Given the description of an element on the screen output the (x, y) to click on. 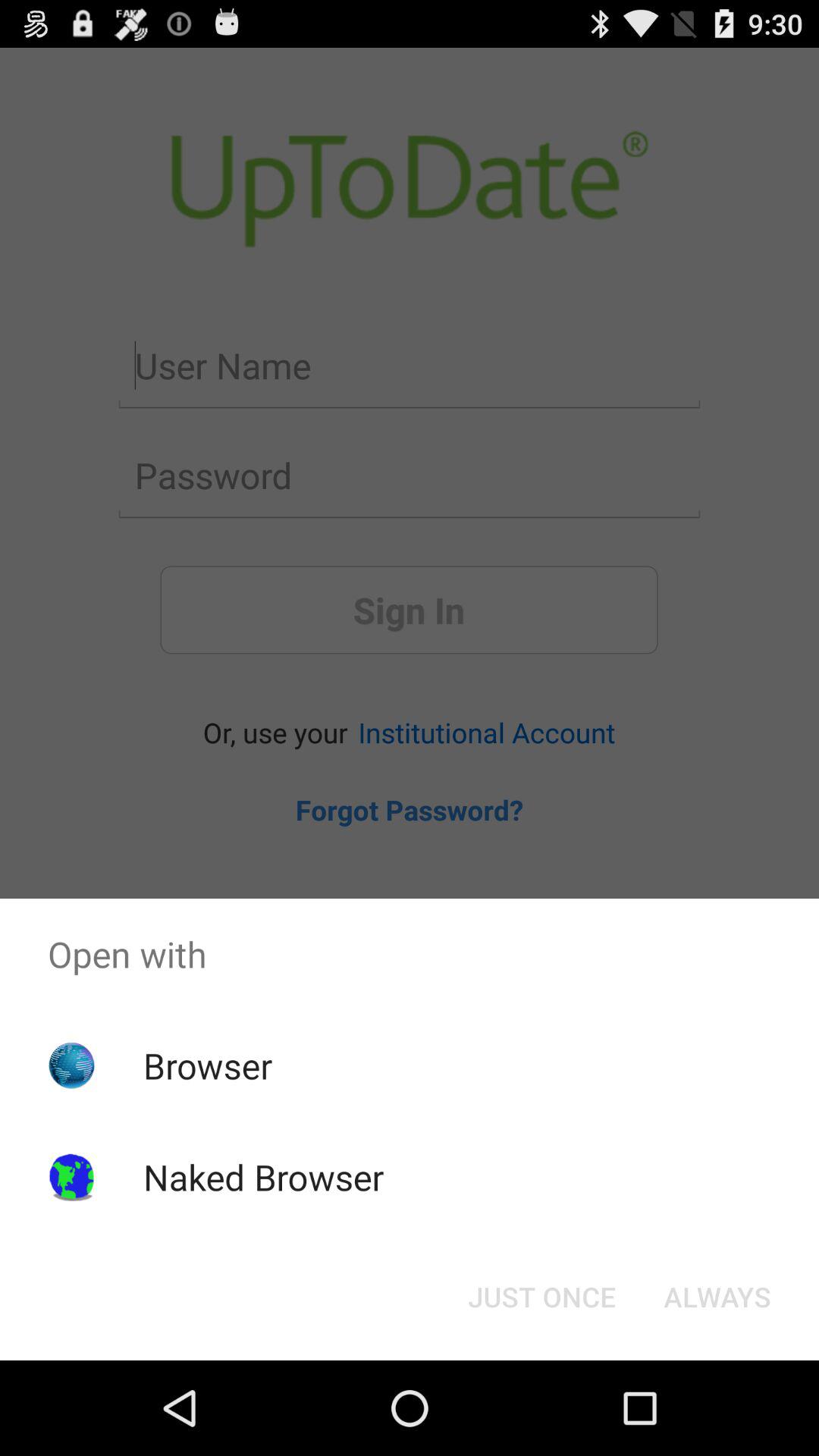
open the item next to the always (541, 1296)
